Given the description of an element on the screen output the (x, y) to click on. 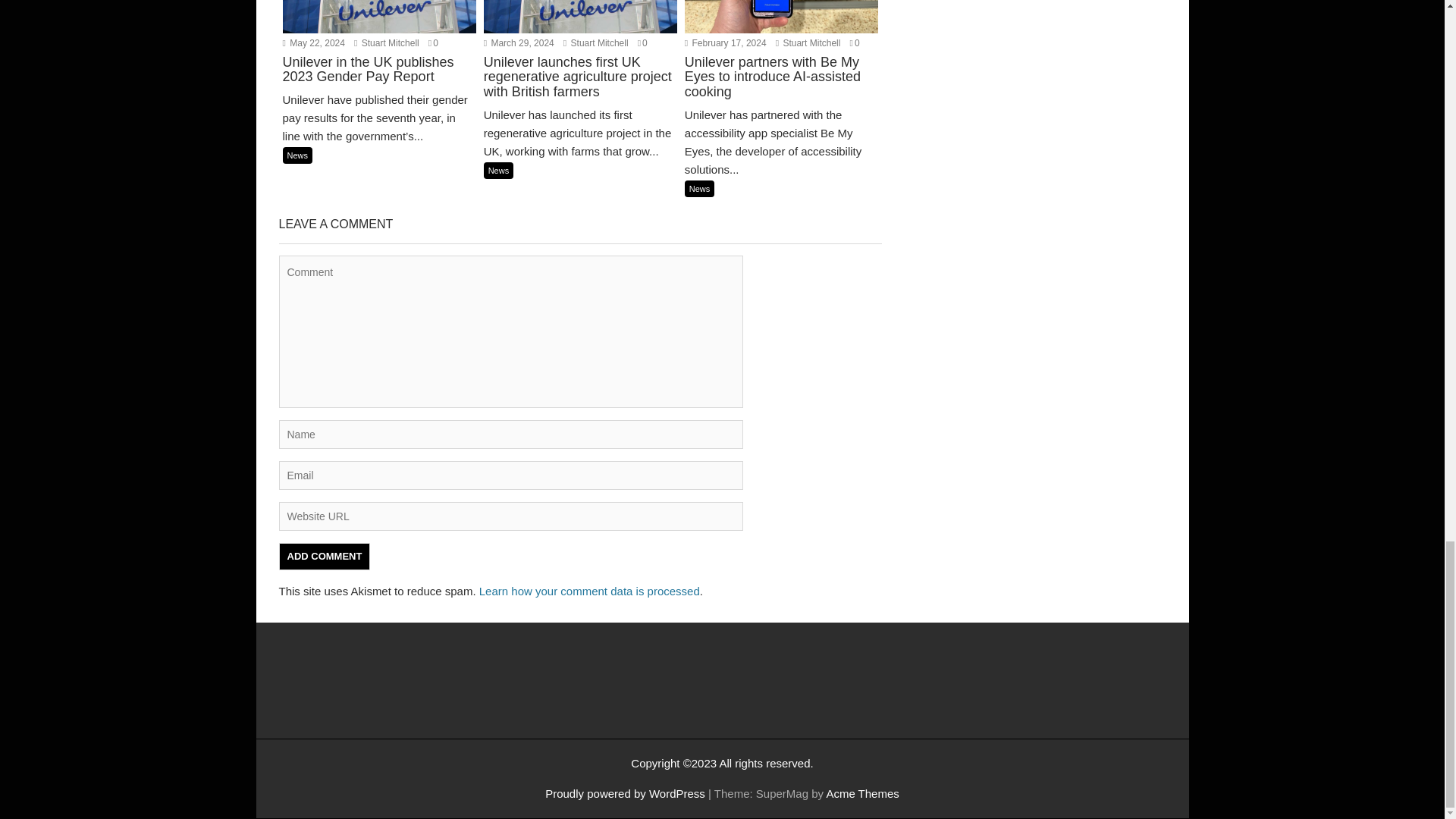
Add Comment (325, 556)
